Given the description of an element on the screen output the (x, y) to click on. 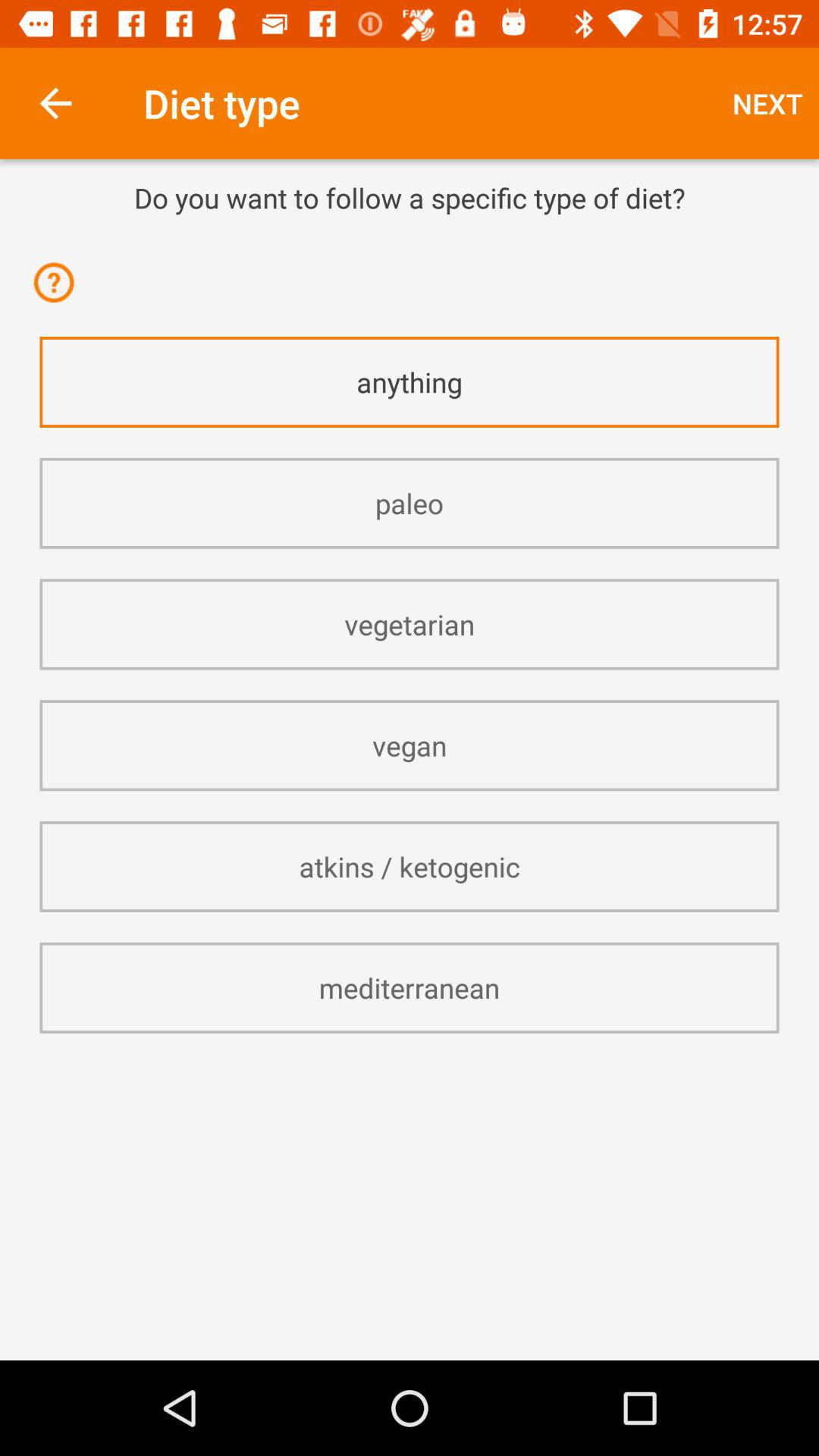
click icon to the right of diet type (767, 103)
